Given the description of an element on the screen output the (x, y) to click on. 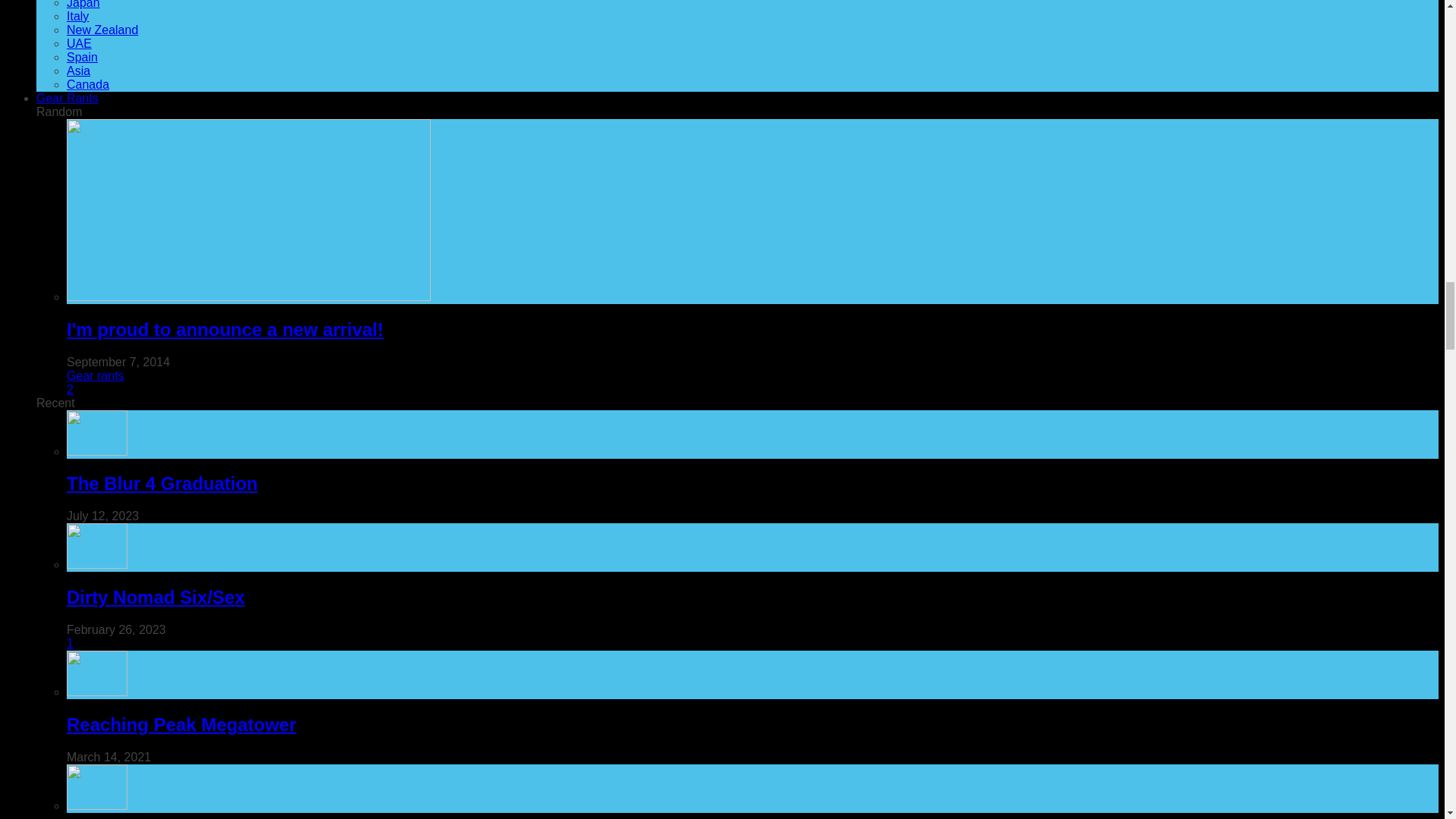
View all posts in Gear rants (94, 375)
